Given the description of an element on the screen output the (x, y) to click on. 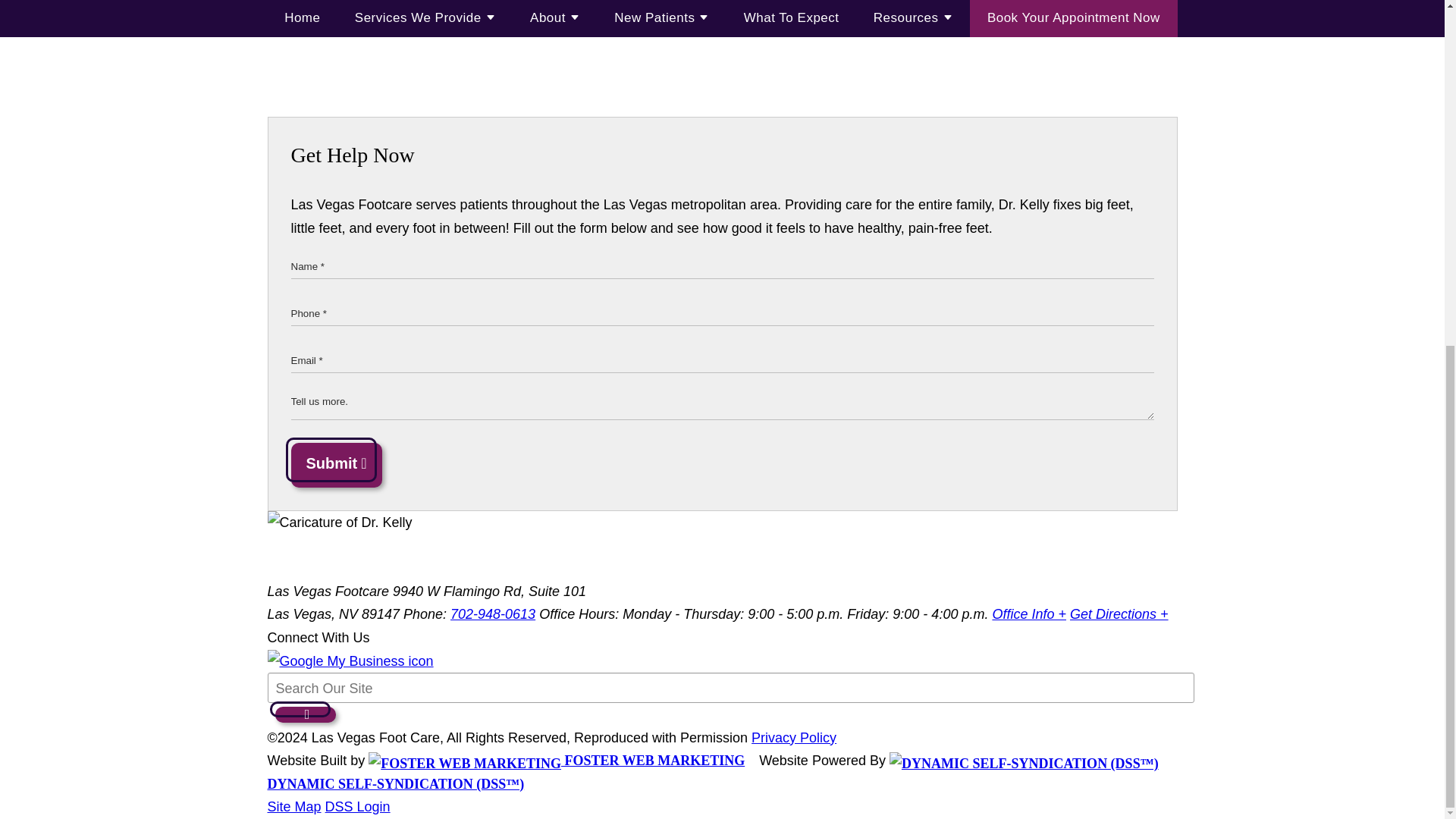
Submit (336, 465)
702-948-0613 (492, 613)
Search (304, 714)
